Given the description of an element on the screen output the (x, y) to click on. 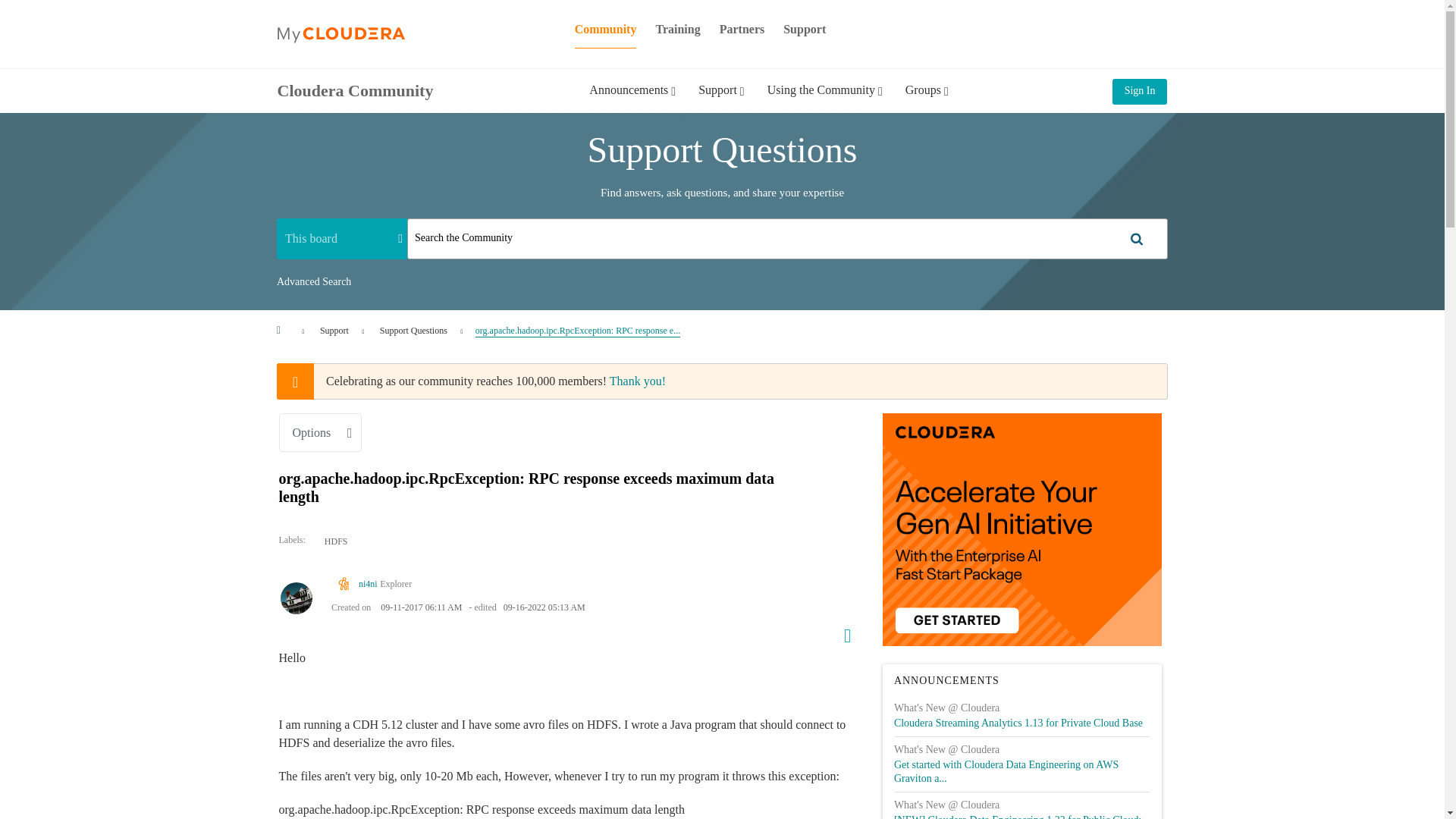
Support (804, 29)
Announcements (632, 100)
Support (721, 100)
Advanced Search (313, 281)
Show option menu (842, 632)
Show option menu (320, 432)
Search Granularity (342, 237)
Groups (927, 100)
Partners (742, 29)
Search (787, 238)
